Given the description of an element on the screen output the (x, y) to click on. 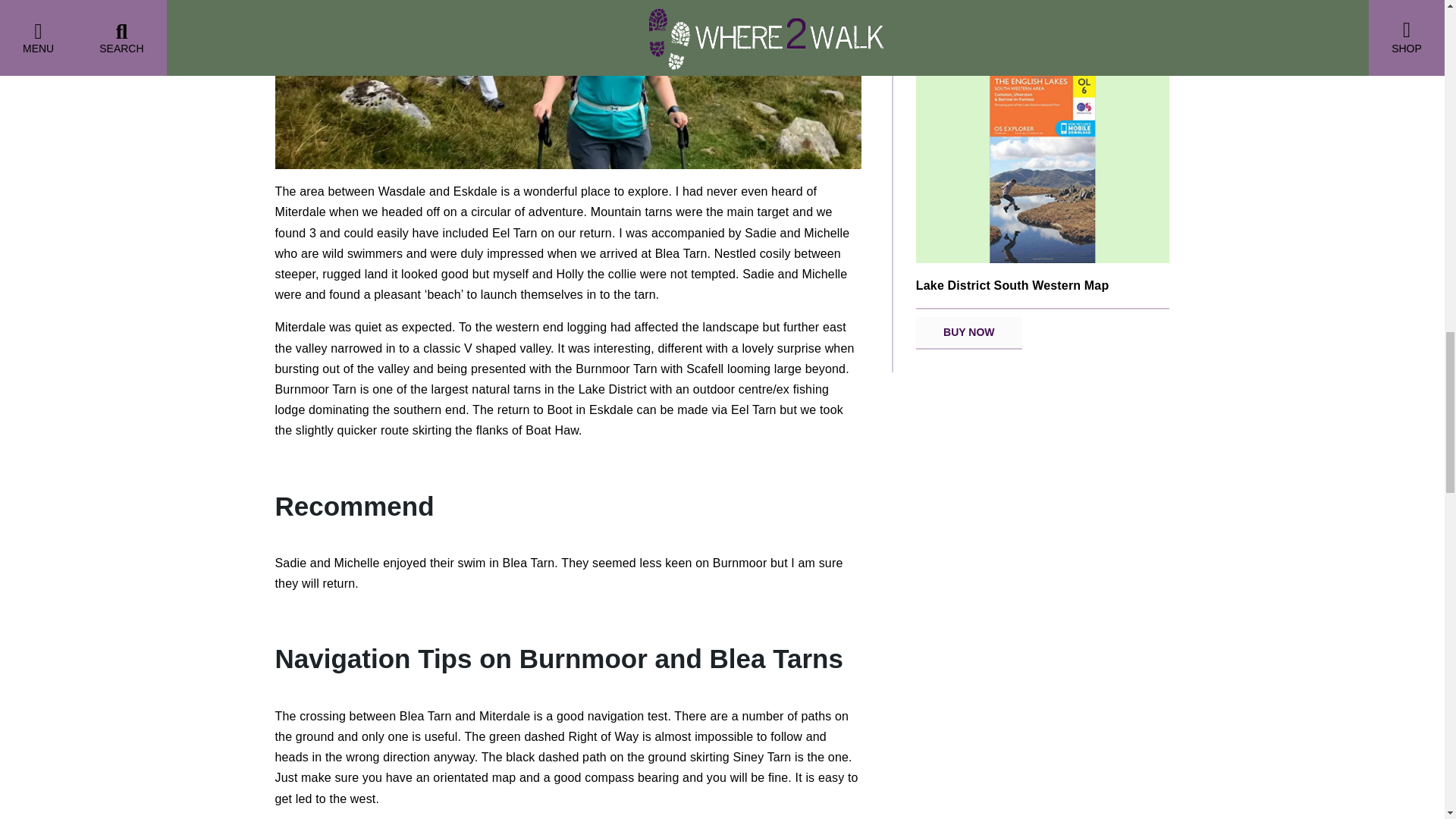
View the product (1042, 190)
Buy now (968, 332)
